Given the description of an element on the screen output the (x, y) to click on. 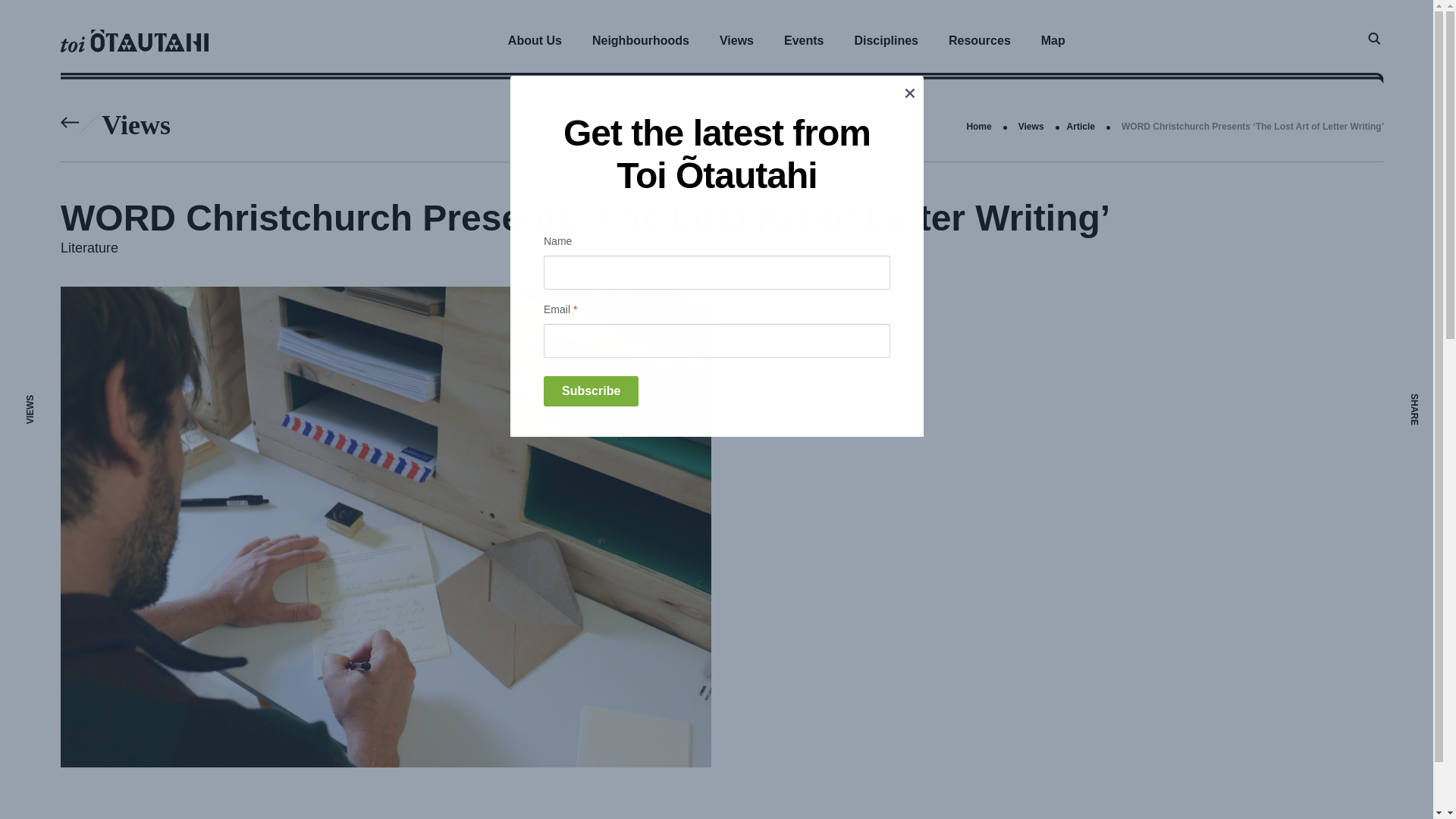
Map (1053, 40)
Resources (979, 40)
Events (803, 40)
Home (978, 126)
About Us (534, 40)
Views (1030, 126)
Neighbourhoods (640, 40)
Disciplines (885, 40)
Literature (89, 247)
Views (736, 40)
